Given the description of an element on the screen output the (x, y) to click on. 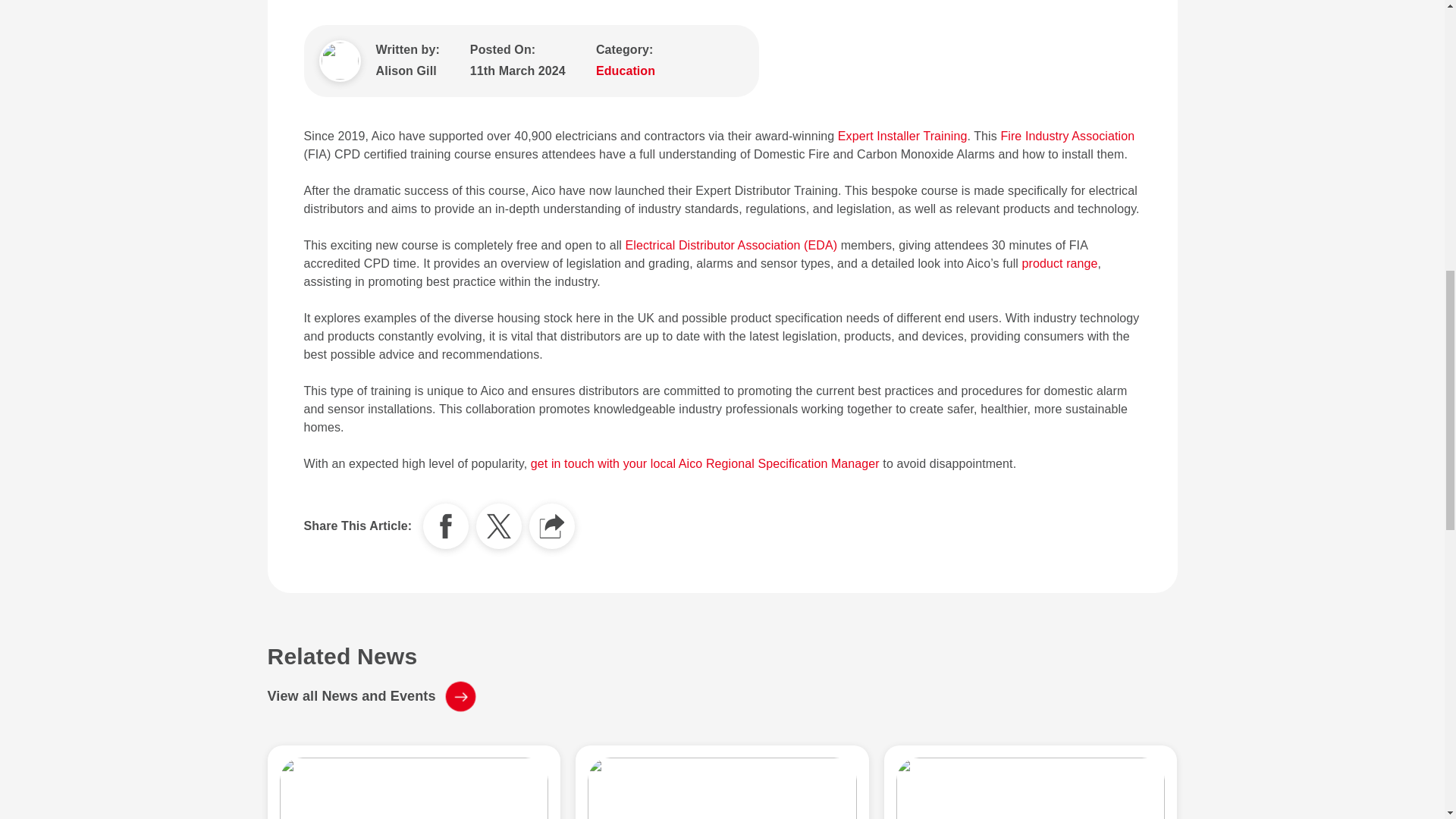
Share on Twitter (498, 525)
Share on Facebook (445, 525)
Share via email (552, 525)
